Given the description of an element on the screen output the (x, y) to click on. 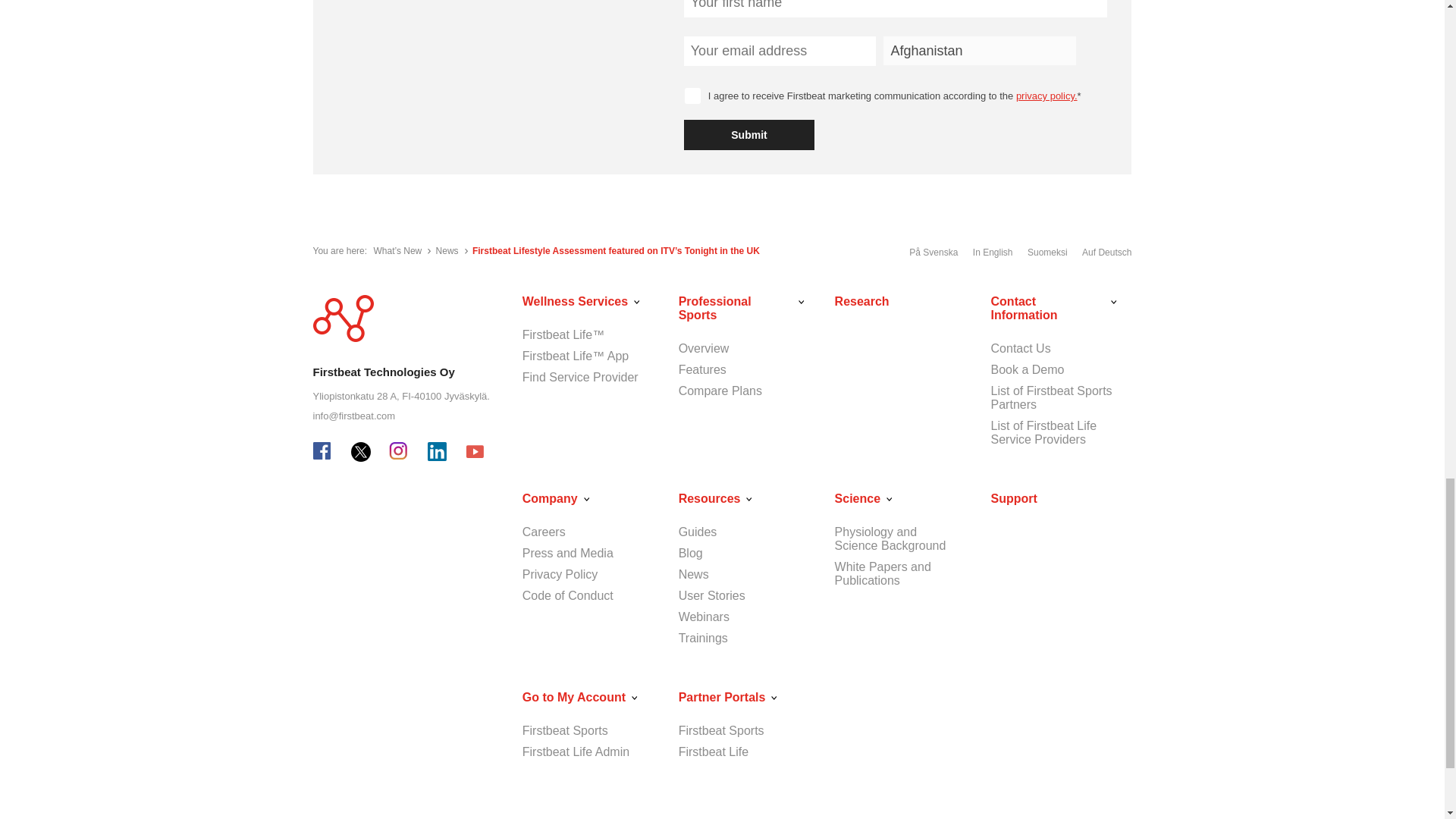
Submit (748, 134)
